Given the description of an element on the screen output the (x, y) to click on. 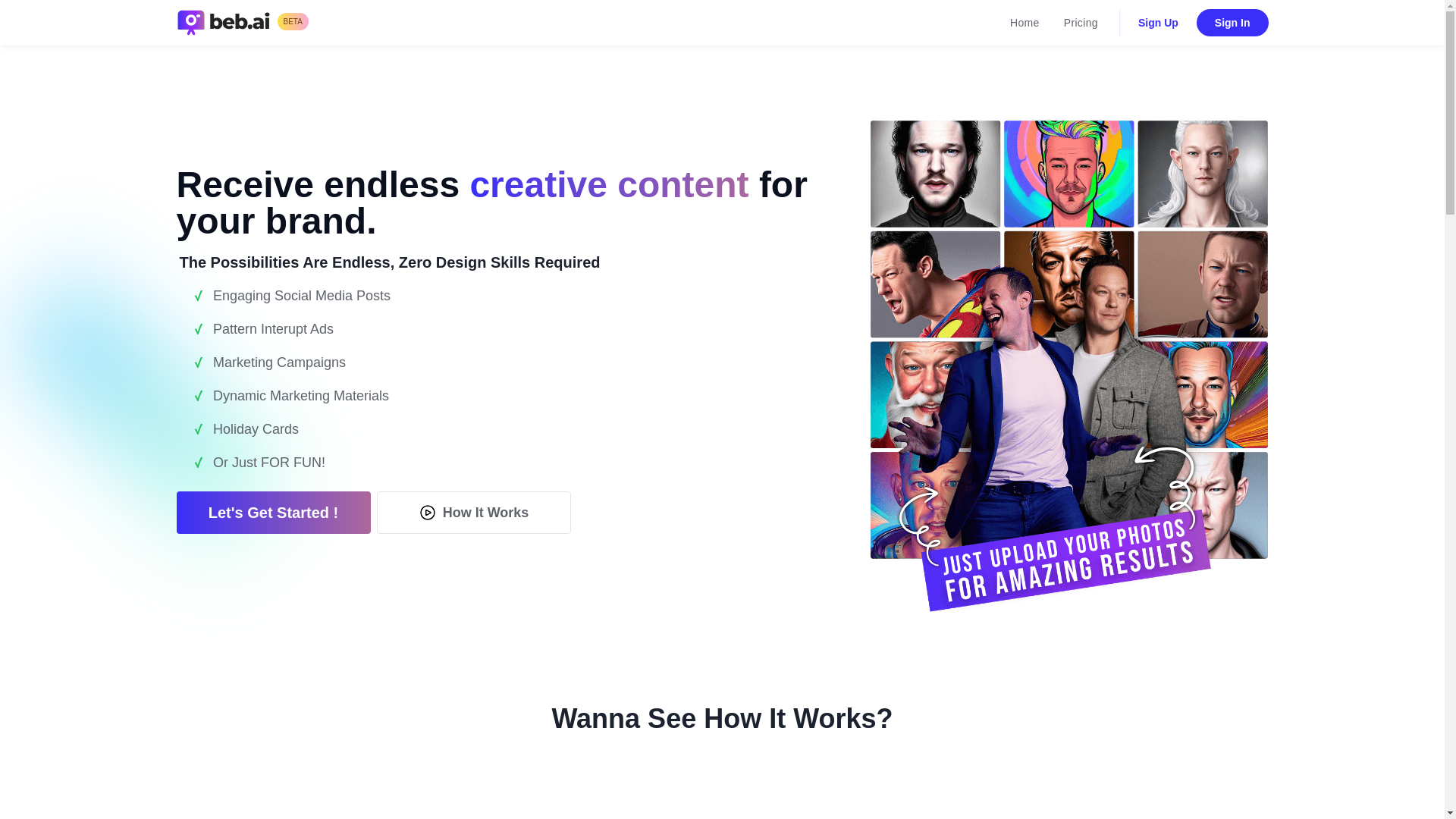
How It Works (472, 512)
Home (1024, 22)
Pricing (1080, 22)
Sign In (1232, 22)
BETA (241, 22)
Sign Up (1157, 22)
Let's Get Started ! (272, 512)
